Given the description of an element on the screen output the (x, y) to click on. 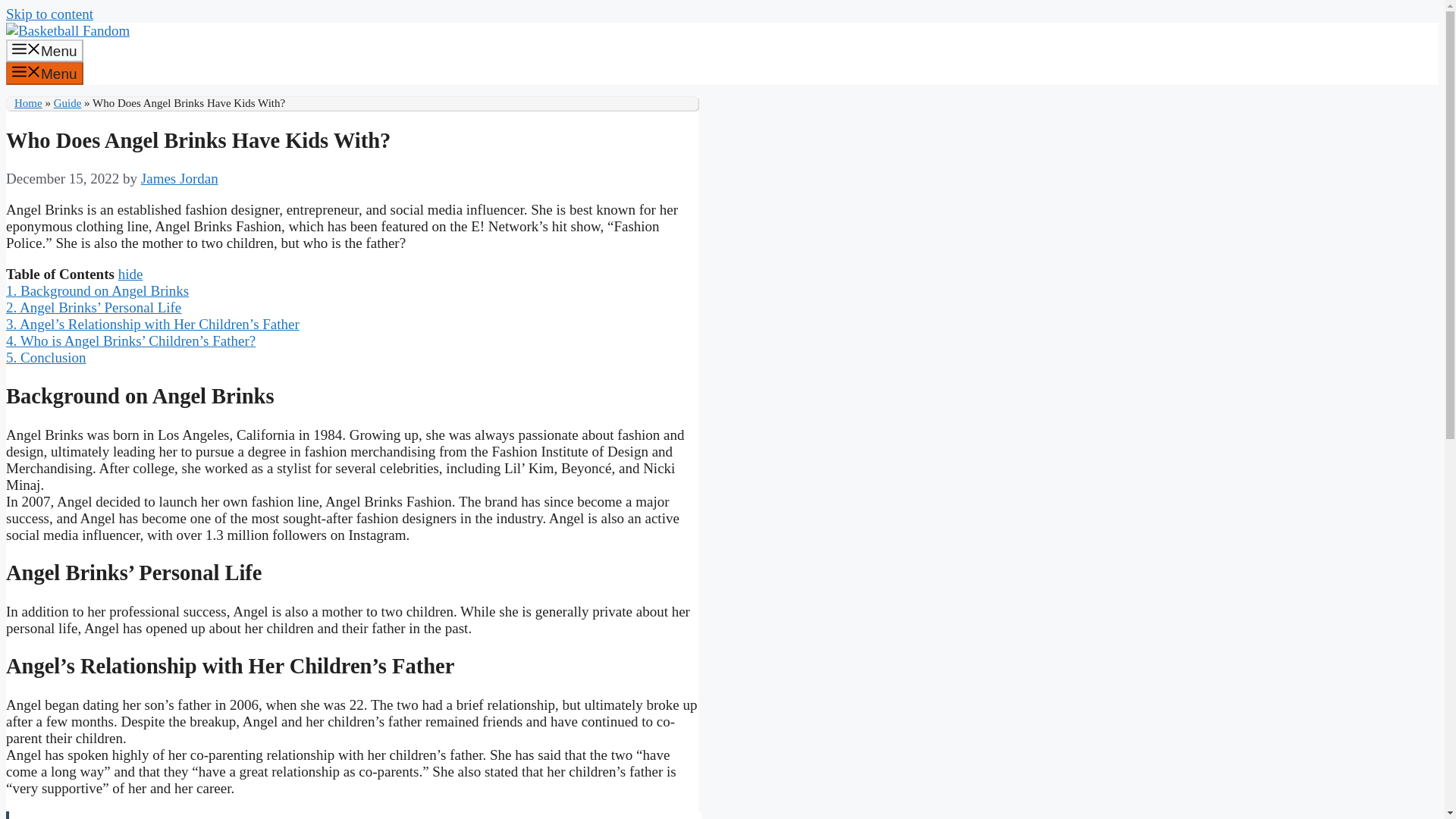
Guide (67, 102)
hide (129, 273)
5. Conclusion (45, 357)
Menu (43, 73)
Menu (43, 50)
James Jordan (179, 178)
Skip to content (49, 13)
Skip to content (49, 13)
Home (28, 102)
1. Background on Angel Brinks (97, 290)
View all posts by James Jordan (179, 178)
